Given the description of an element on the screen output the (x, y) to click on. 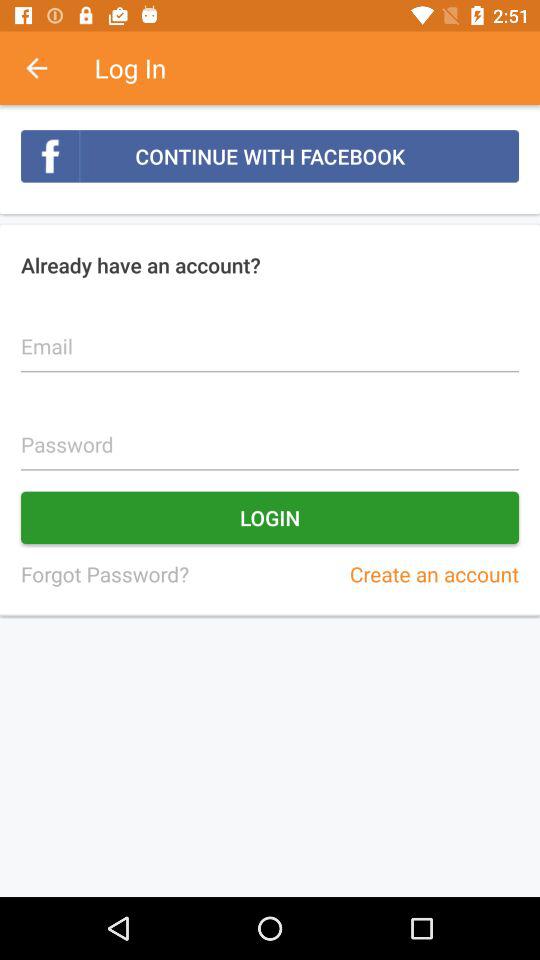
jump to login item (270, 517)
